Given the description of an element on the screen output the (x, y) to click on. 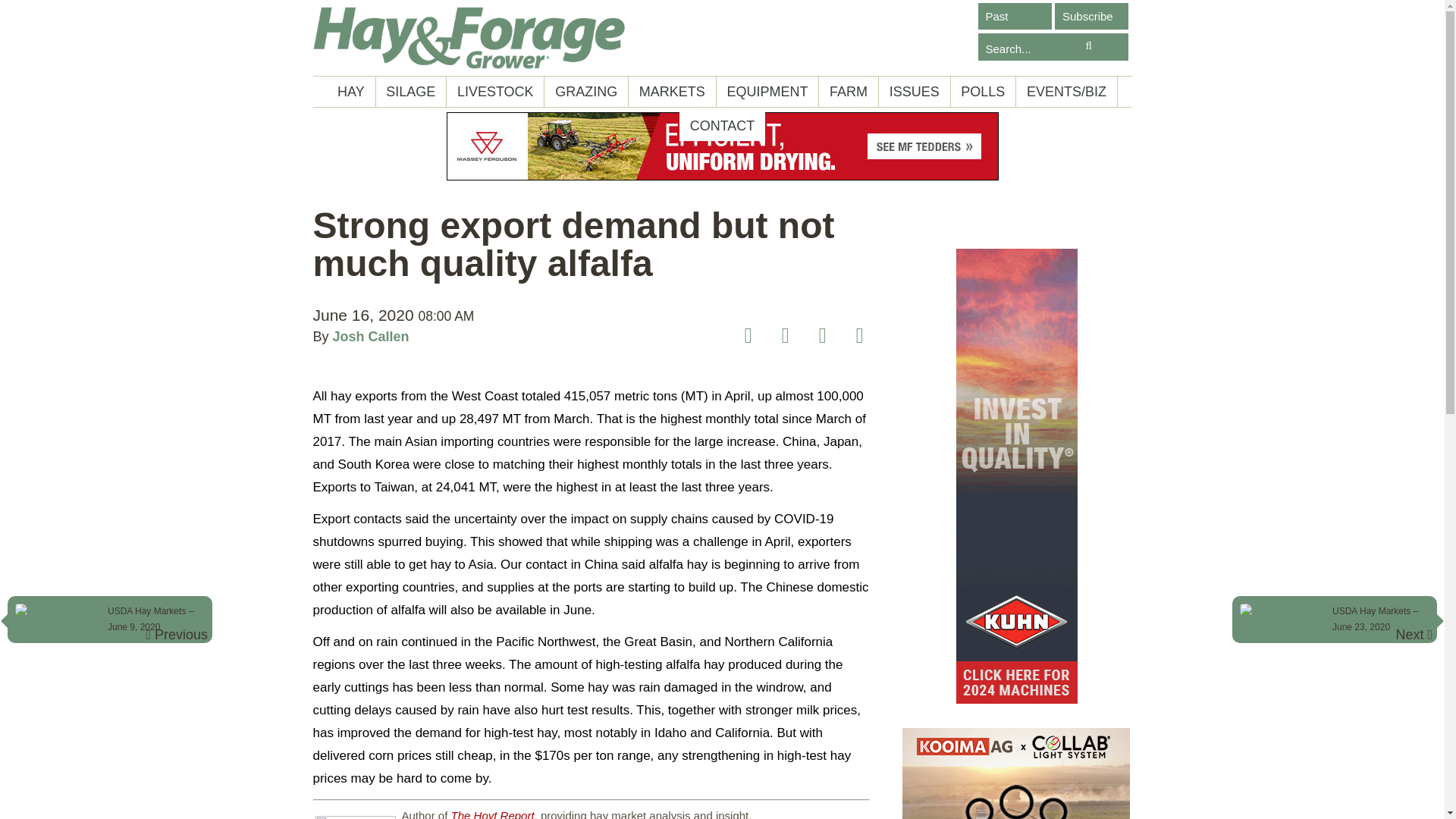
GRAZING (586, 91)
ISSUES (914, 91)
Subscribe (1091, 16)
Past Issues (1014, 16)
SILAGE (411, 91)
FARM (848, 91)
MARKETS (672, 91)
HAY (350, 91)
LIVESTOCK (494, 91)
Hay and Forage Grower Magazine (469, 38)
EQUIPMENT (766, 91)
